Given the description of an element on the screen output the (x, y) to click on. 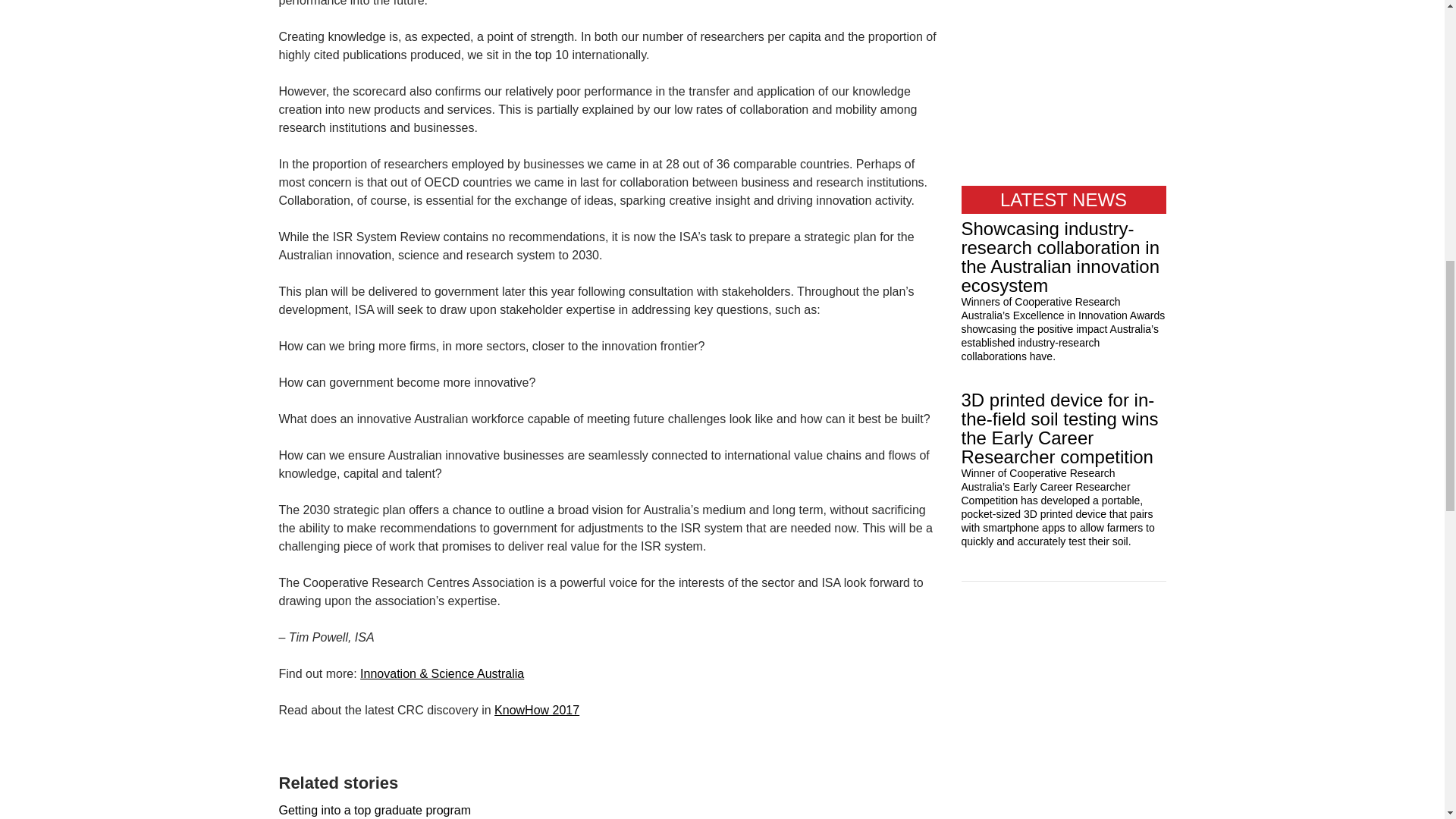
Getting into a top graduate program (375, 809)
KnowHow 2017 (537, 709)
